Given the description of an element on the screen output the (x, y) to click on. 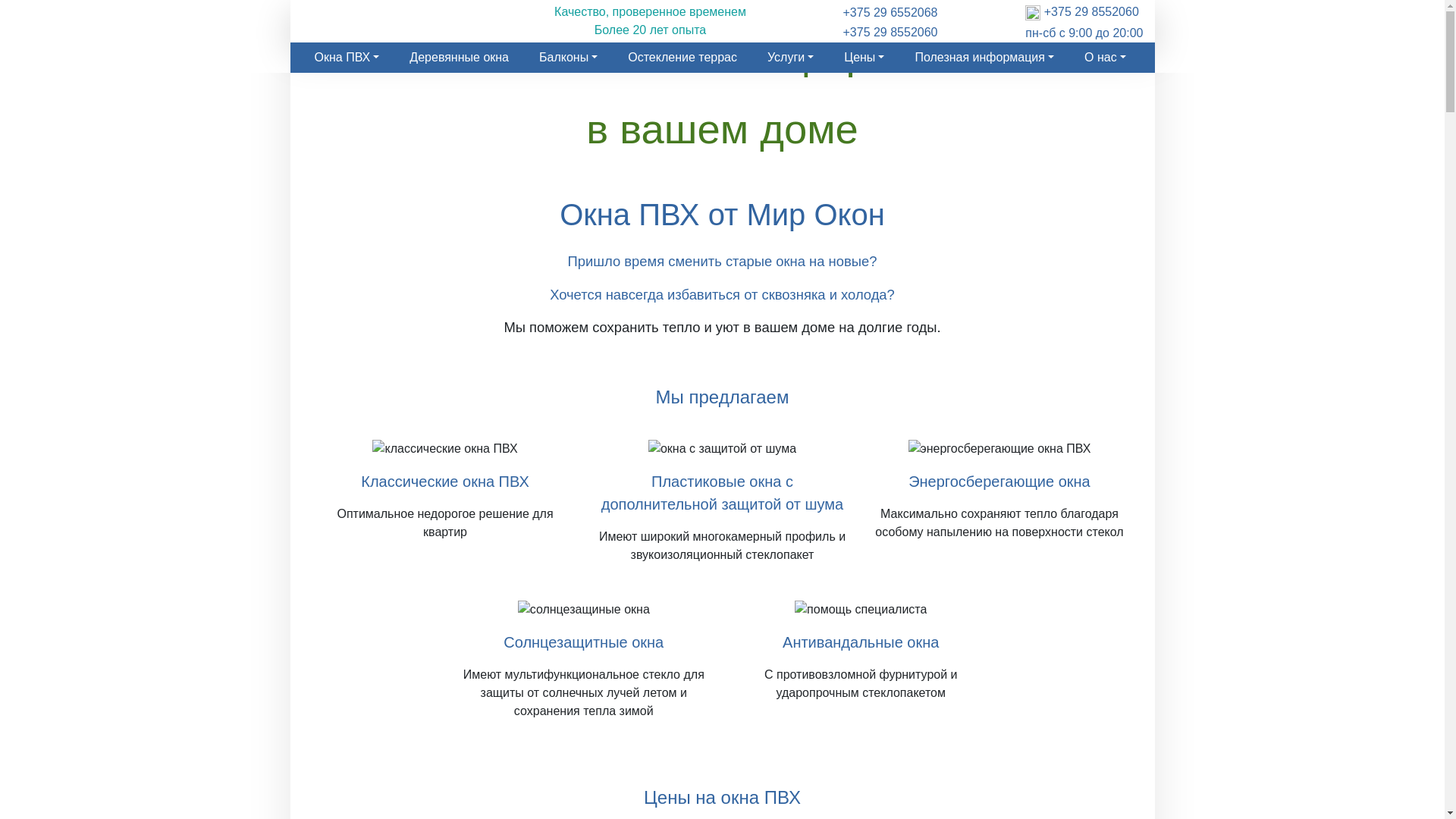
+375 29 8552060 Element type: text (889, 32)
+375 29 6552068 Element type: text (889, 12)
+375 29 8552060 Element type: text (1091, 11)
